Given the description of an element on the screen output the (x, y) to click on. 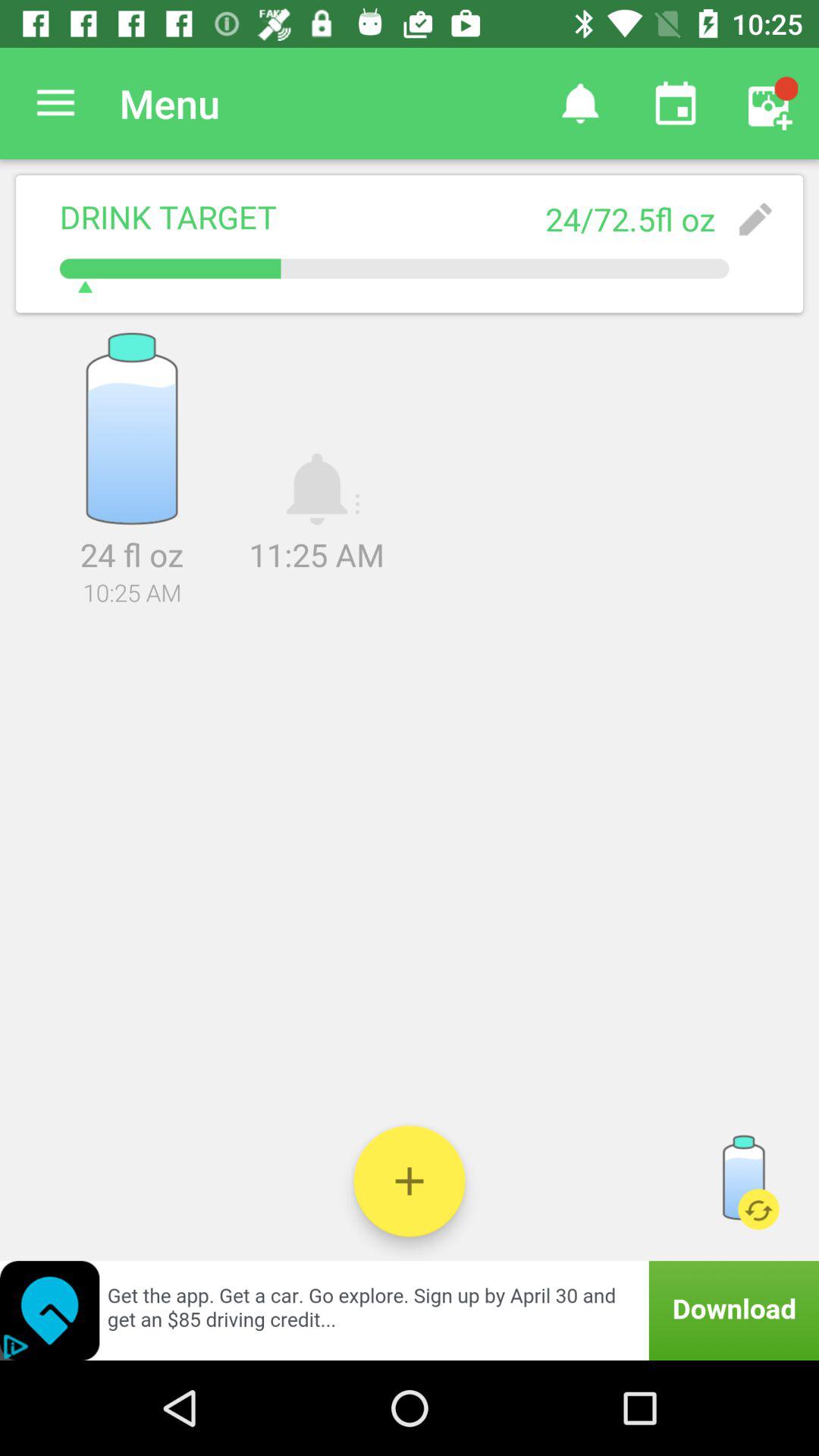
add water tracker (409, 1181)
